Given the description of an element on the screen output the (x, y) to click on. 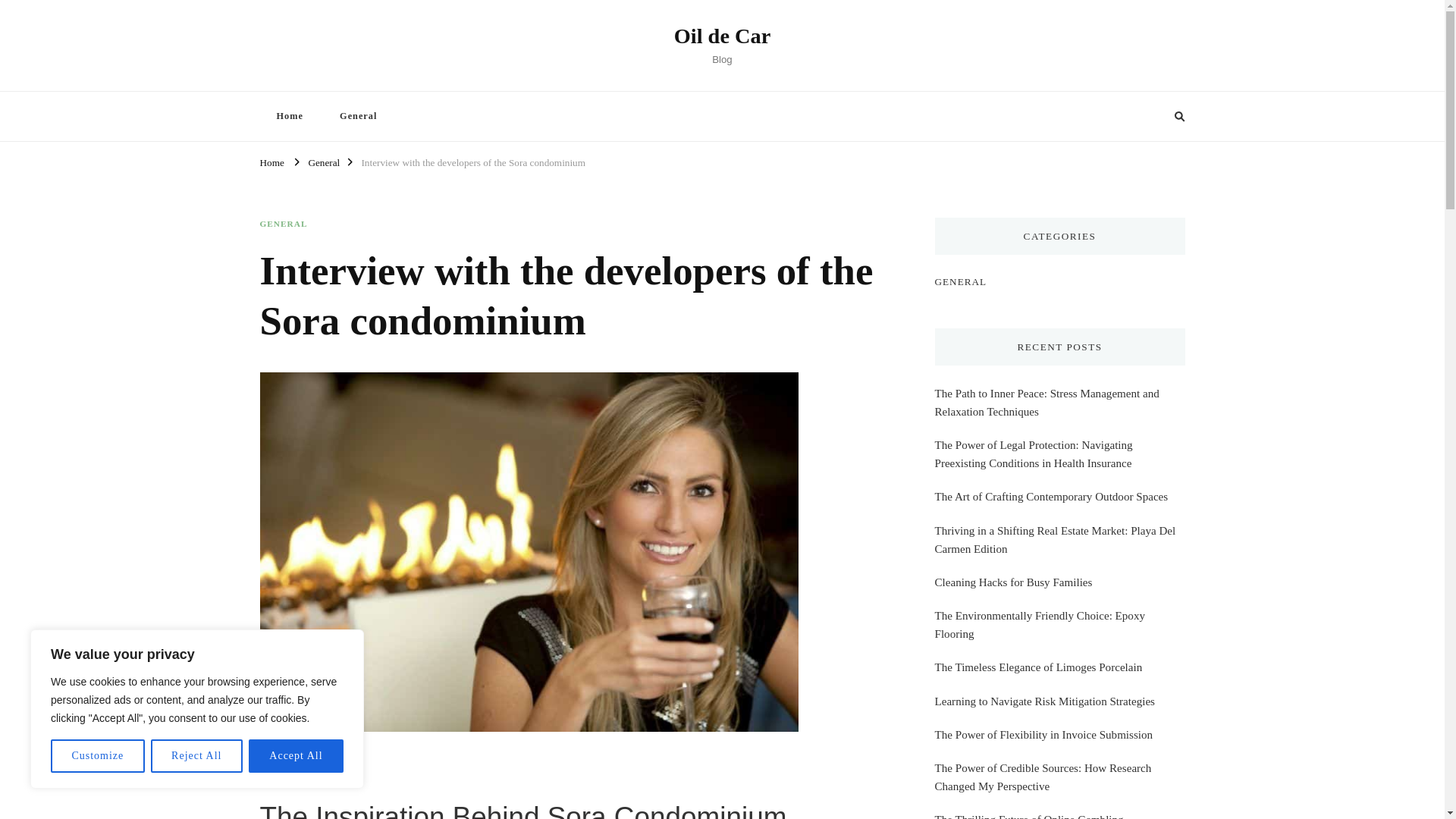
Oil de Car (722, 35)
General (323, 161)
Home (271, 161)
Reject All (197, 756)
GENERAL (283, 223)
Customize (97, 756)
Accept All (295, 756)
Interview with the developers of the Sora condominium (473, 161)
Home (288, 115)
General (358, 115)
